Given the description of an element on the screen output the (x, y) to click on. 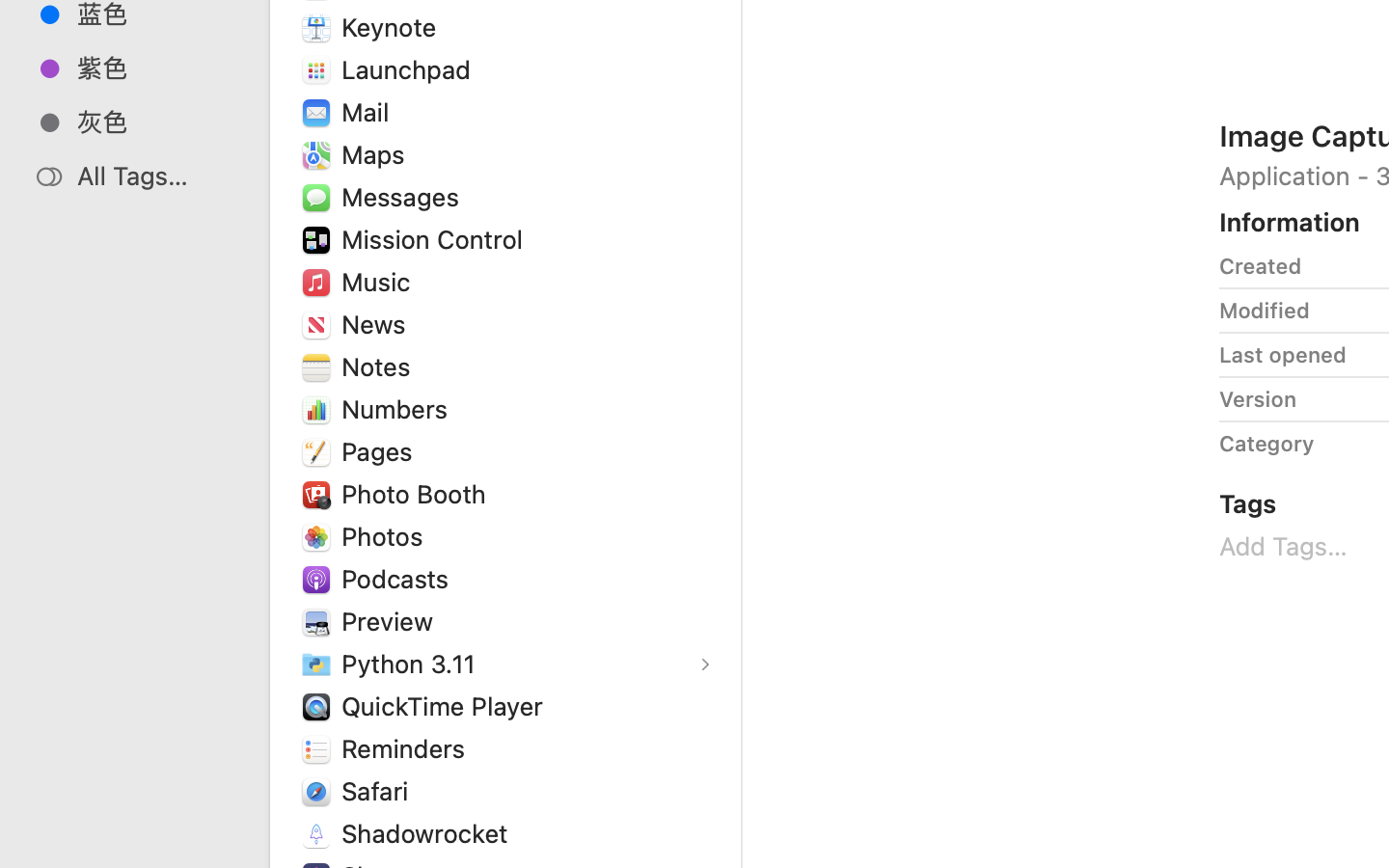
Applications Element type: AXStaticText (875, 786)
Photos Element type: AXTextField (386, 535)
Tags Element type: AXStaticText (1247, 503)
Created Element type: AXStaticText (1260, 265)
Modified Element type: AXStaticText (1264, 310)
